Given the description of an element on the screen output the (x, y) to click on. 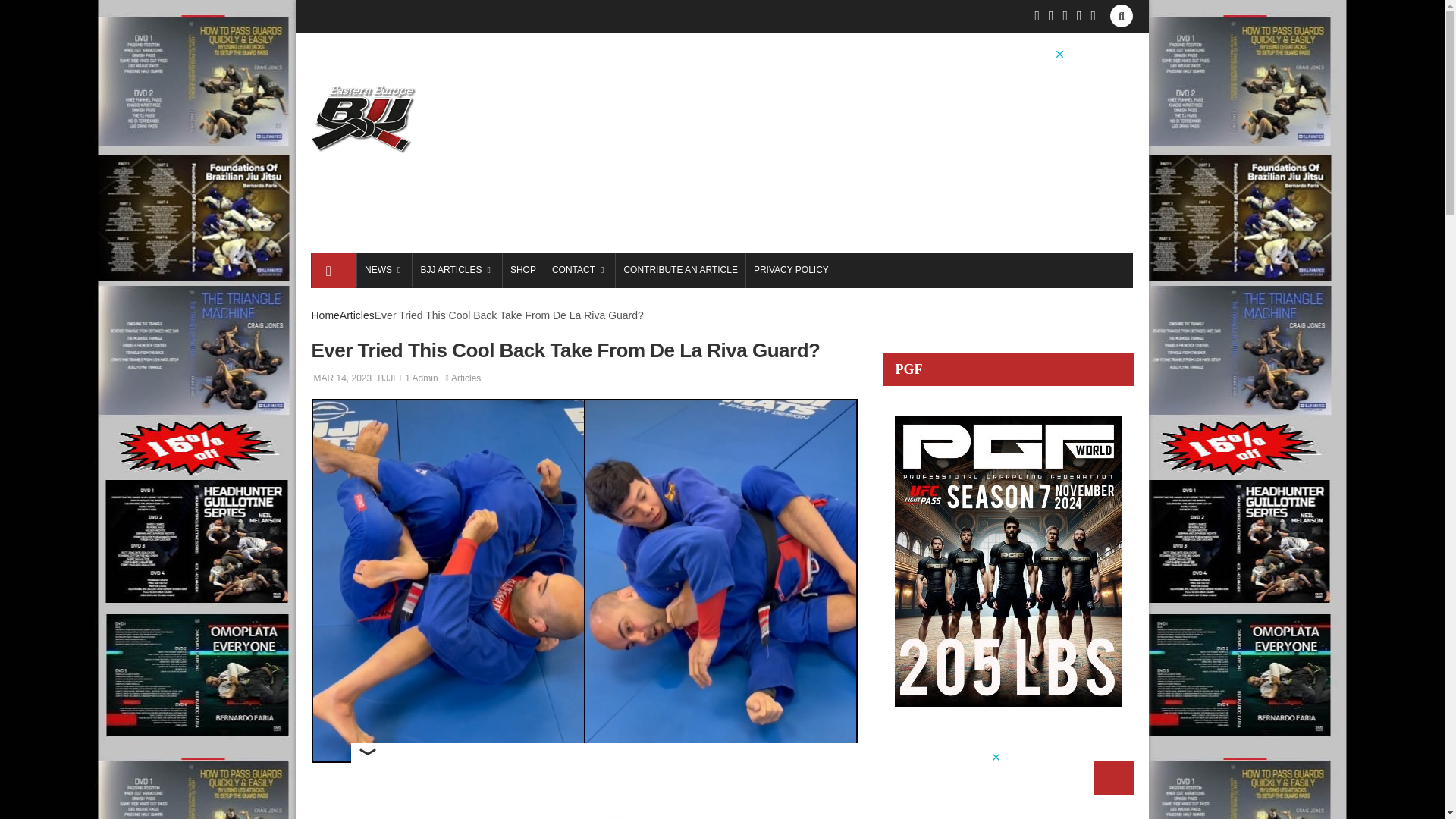
Articles (356, 315)
Articles (465, 378)
Posts by BJJEE1 Admin (407, 378)
CONTACT (579, 269)
BJJEE1 Admin (407, 378)
CONTRIBUTE AN ARTICLE (679, 270)
BJJ ARTICLES (457, 269)
PRIVACY POLICY (790, 270)
Home (325, 315)
NEWS (384, 269)
SHOP (522, 270)
3rd party ad content (789, 81)
